Given the description of an element on the screen output the (x, y) to click on. 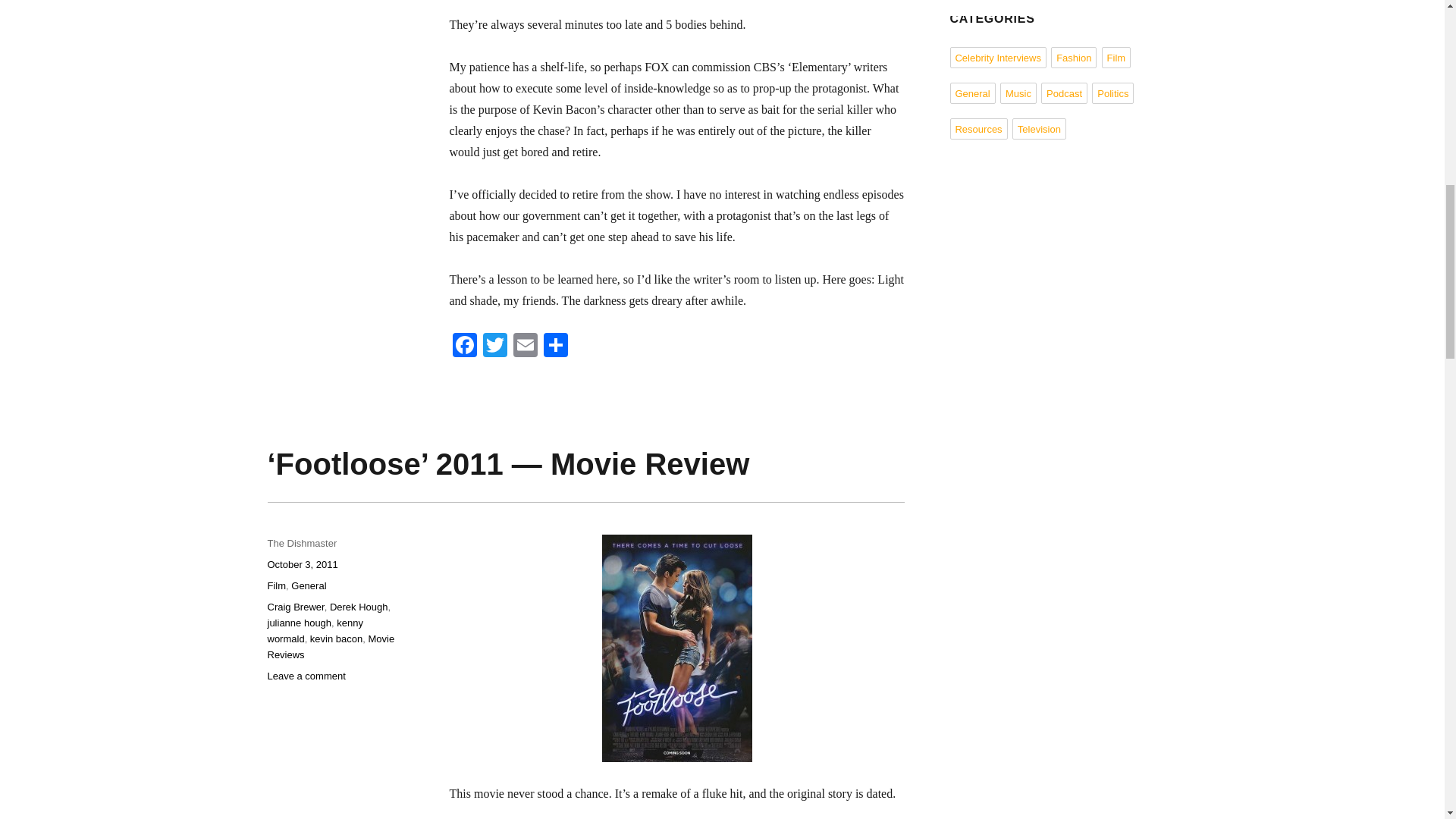
Twitter (494, 346)
General (308, 585)
Derek Hough (359, 606)
Facebook (463, 346)
Craig Brewer (294, 606)
October 3, 2011 (301, 564)
The Dishmaster (301, 542)
Email (524, 346)
Facebook (463, 346)
Film (275, 585)
